Given the description of an element on the screen output the (x, y) to click on. 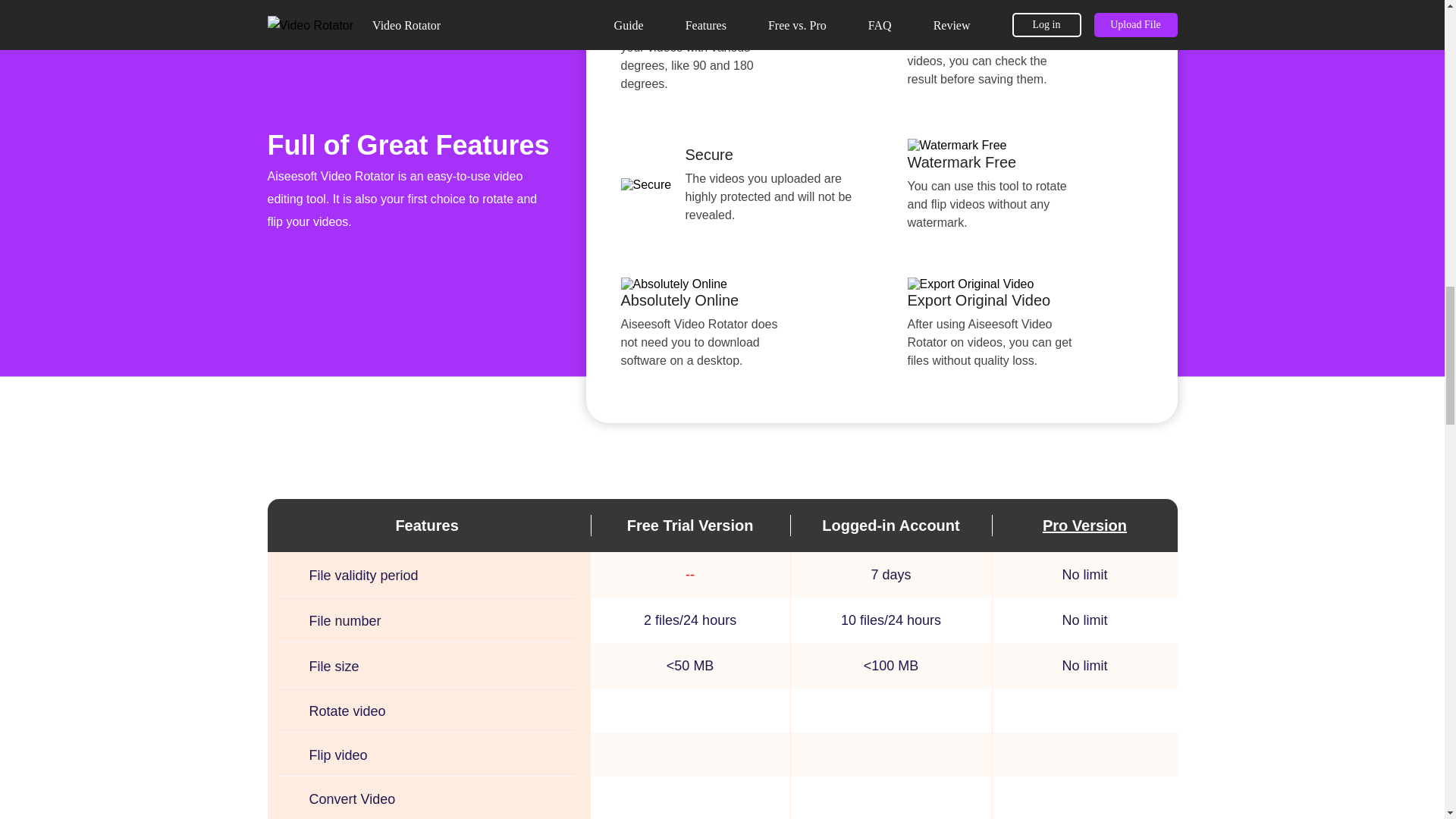
Pro Version (1084, 524)
